Given the description of an element on the screen output the (x, y) to click on. 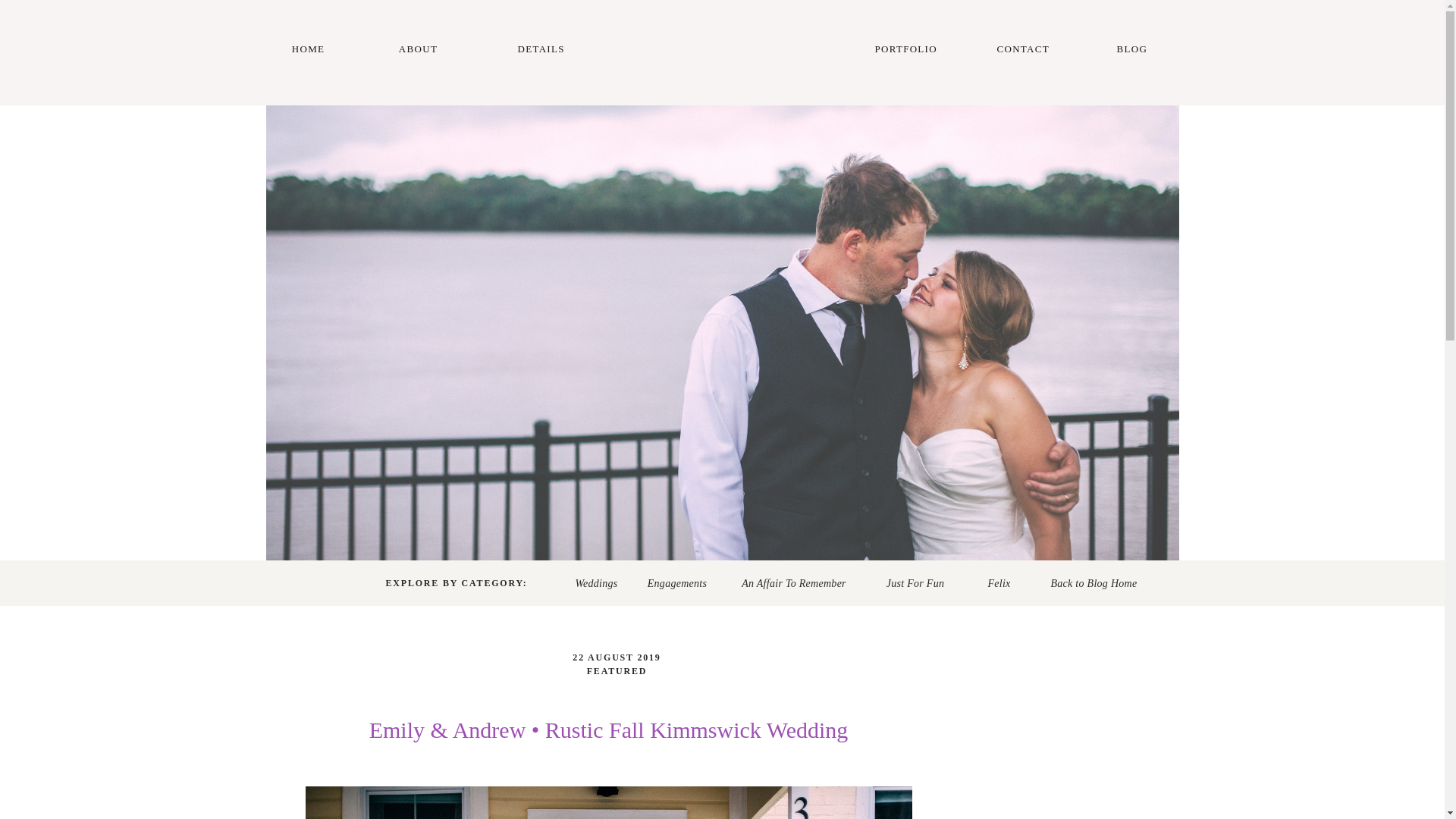
Just For Fun (915, 583)
DETAILS (536, 53)
CONTACT (1020, 53)
Felix (999, 583)
Back to Blog Home (1094, 583)
BLOG (1130, 53)
PORTFOLIO (900, 53)
Engagements (677, 583)
ABOUT (418, 53)
HOME (307, 53)
An Affair To Remember (793, 583)
Weddings (595, 583)
FEATURED (616, 670)
